Given the description of an element on the screen output the (x, y) to click on. 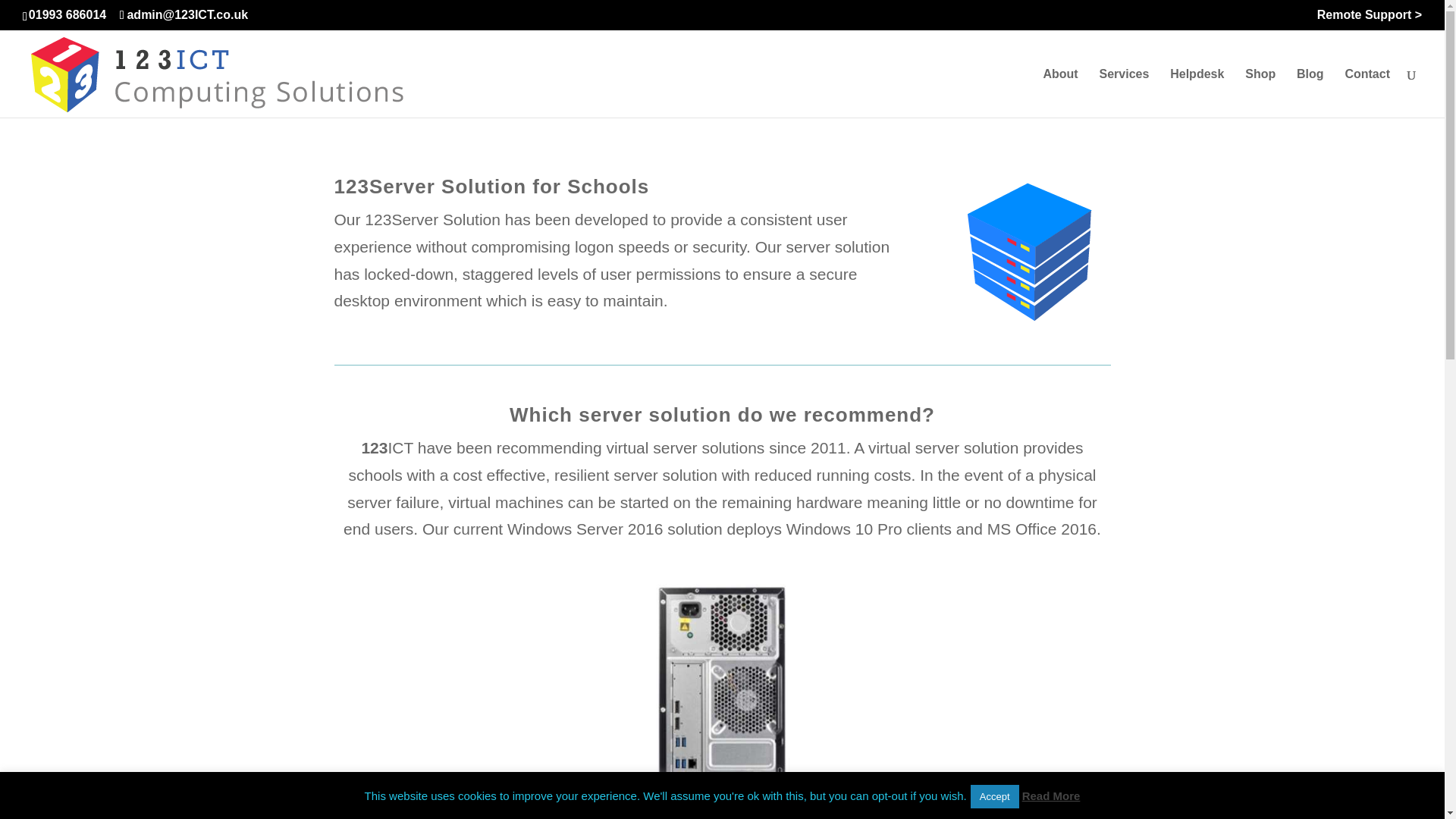
Read More (1051, 795)
Accept (995, 796)
About (1059, 92)
Shop (1259, 92)
Blog (1310, 92)
Contact (1366, 92)
Helpdesk (1197, 92)
Services (1124, 92)
